Given the description of an element on the screen output the (x, y) to click on. 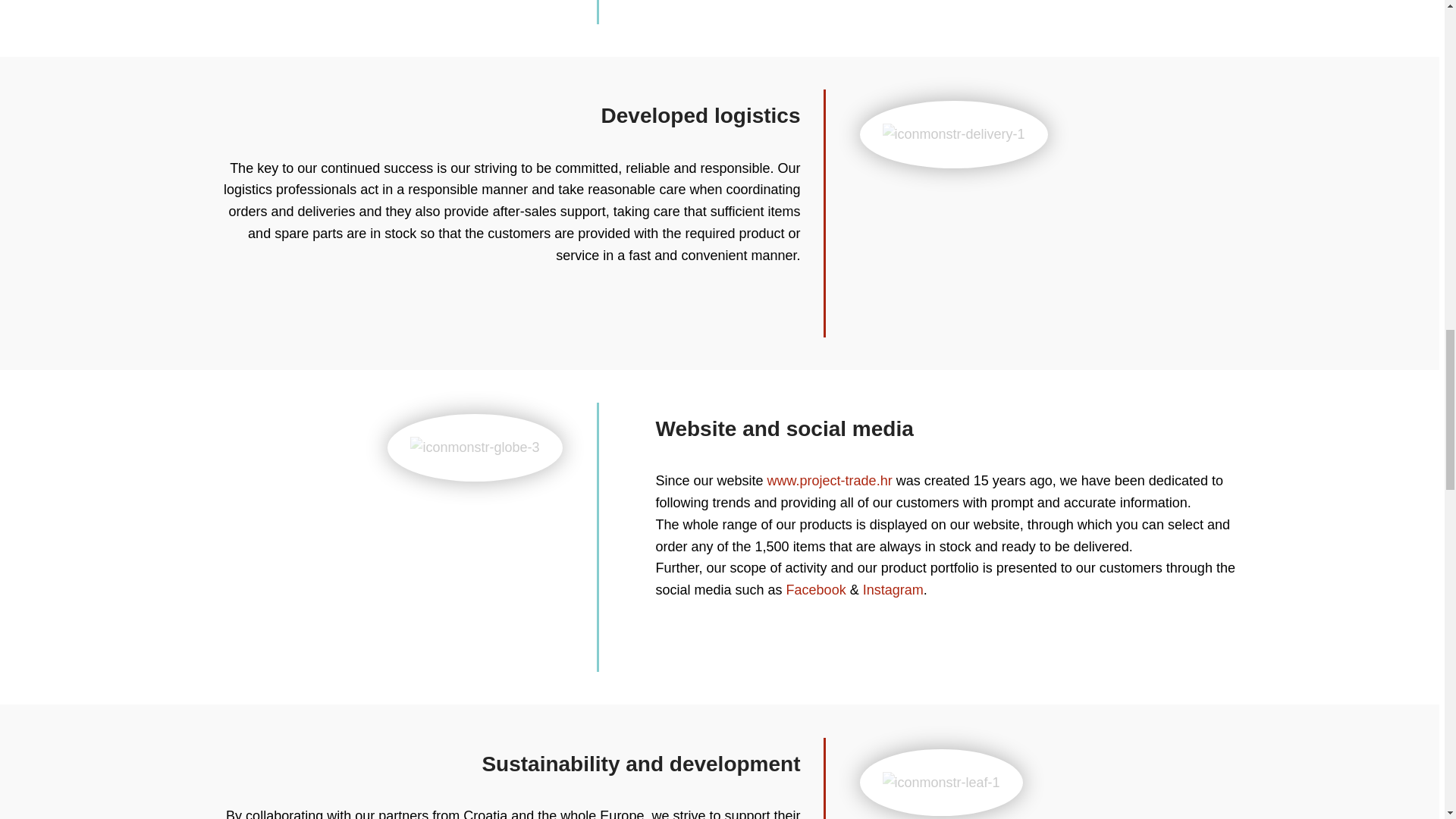
iconmonstr-globe-3 (474, 447)
iconmonstr-leaf-1 (941, 782)
iconmonstr-delivery-1 (953, 134)
